Given the description of an element on the screen output the (x, y) to click on. 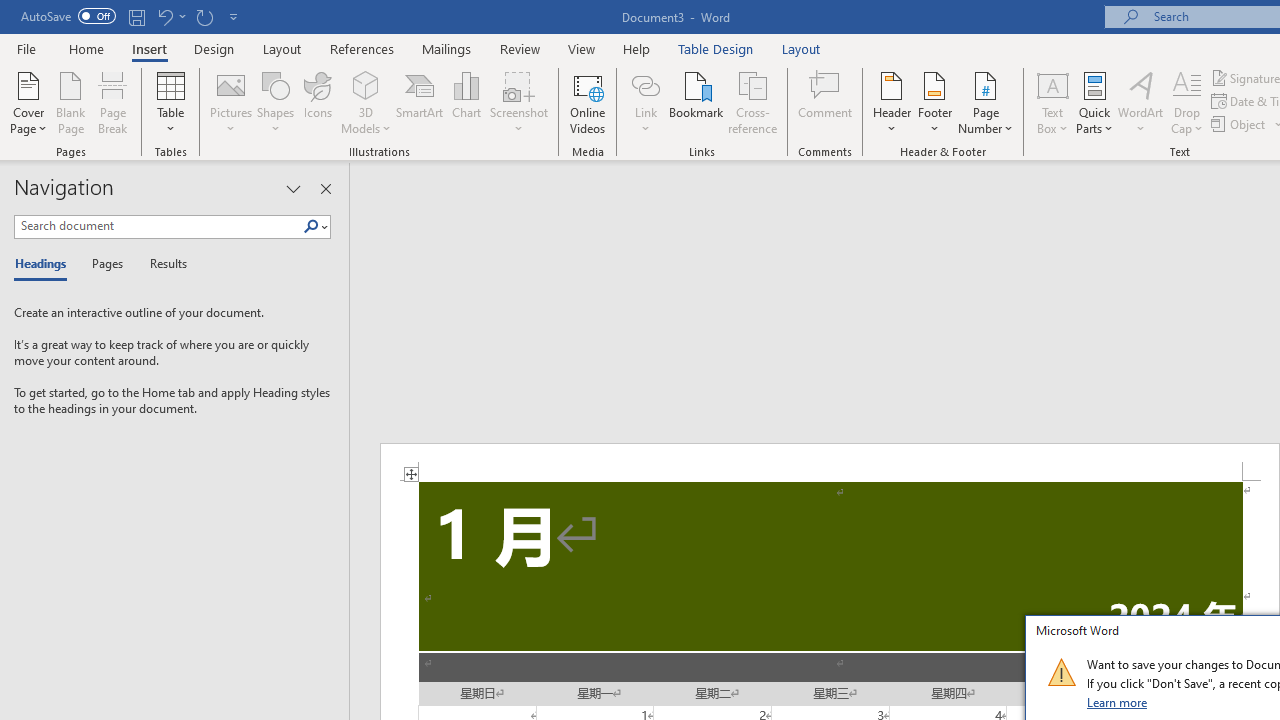
Object... (1240, 124)
Screenshot (518, 102)
Undo Increase Indent (164, 15)
3D Models (366, 84)
Header -Section 1- (830, 461)
Table Design (715, 48)
Footer (934, 102)
Page Break (113, 102)
Drop Cap (1187, 102)
